Given the description of an element on the screen output the (x, y) to click on. 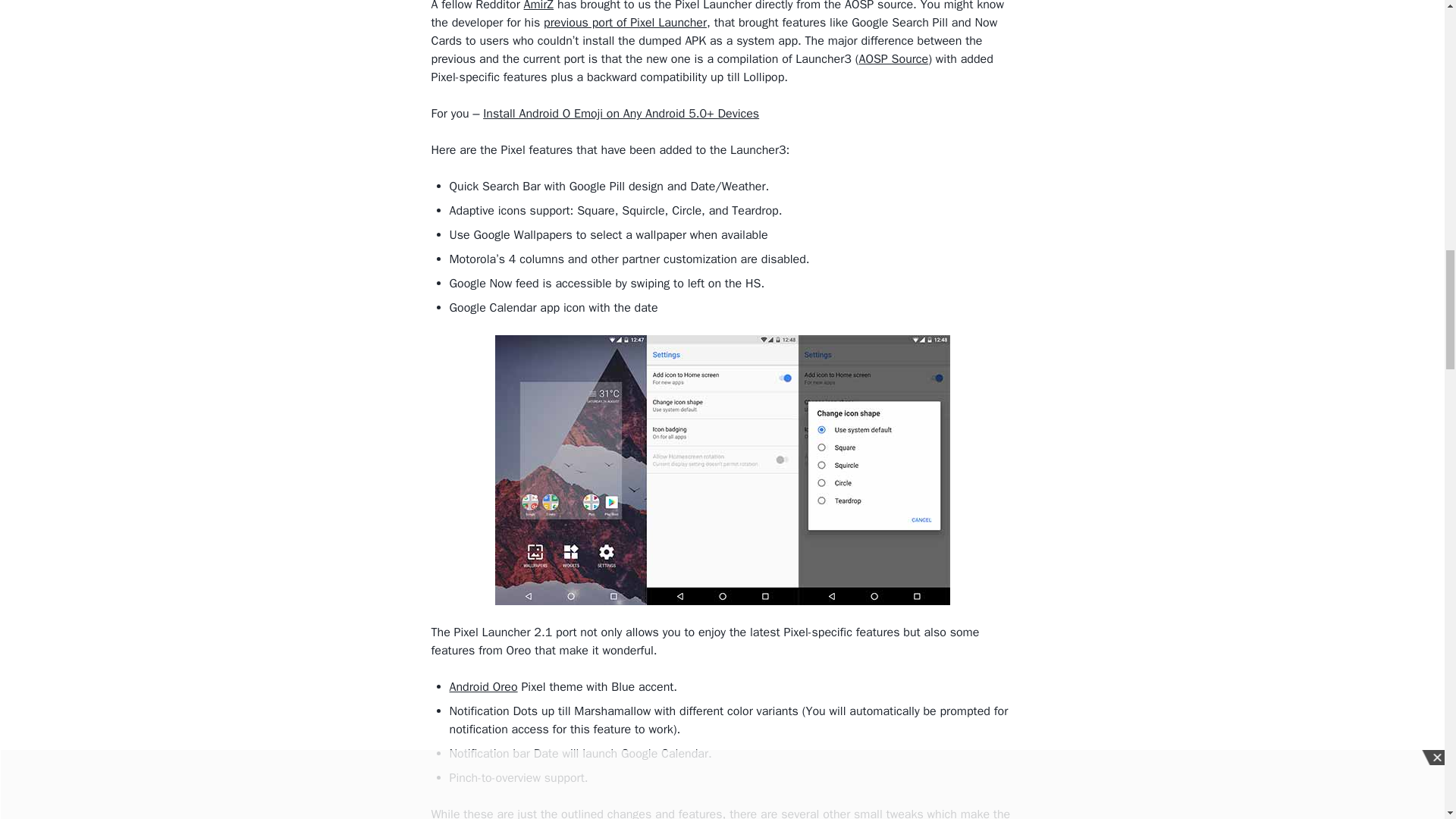
AmirZ (539, 6)
previous port of Pixel Launcher (624, 22)
Android Oreo (482, 686)
AOSP Source (893, 58)
